Given the description of an element on the screen output the (x, y) to click on. 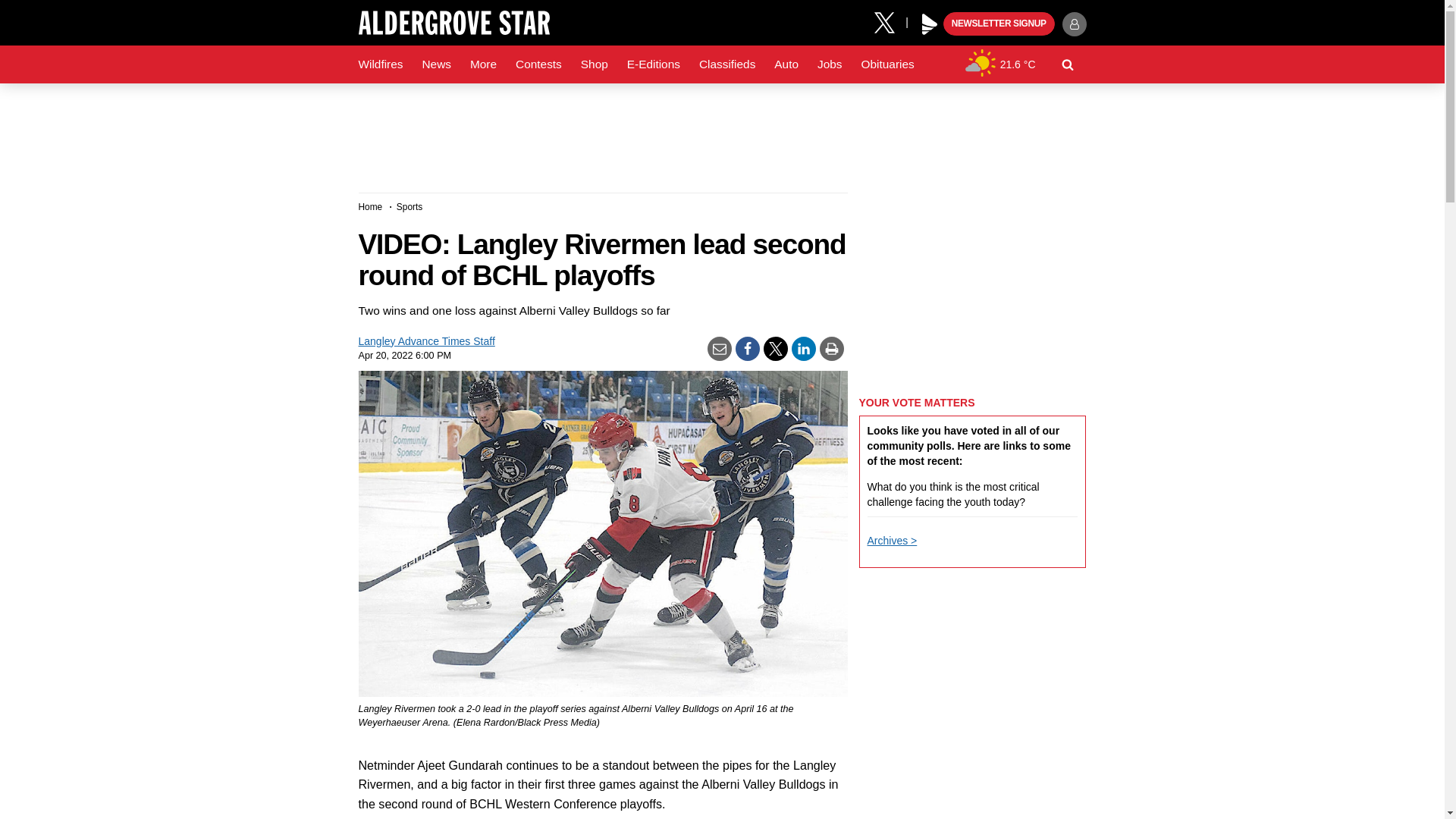
Play (929, 24)
Wildfires (380, 64)
X (889, 21)
News (435, 64)
Black Press Media (929, 24)
NEWSLETTER SIGNUP (998, 24)
